Given the description of an element on the screen output the (x, y) to click on. 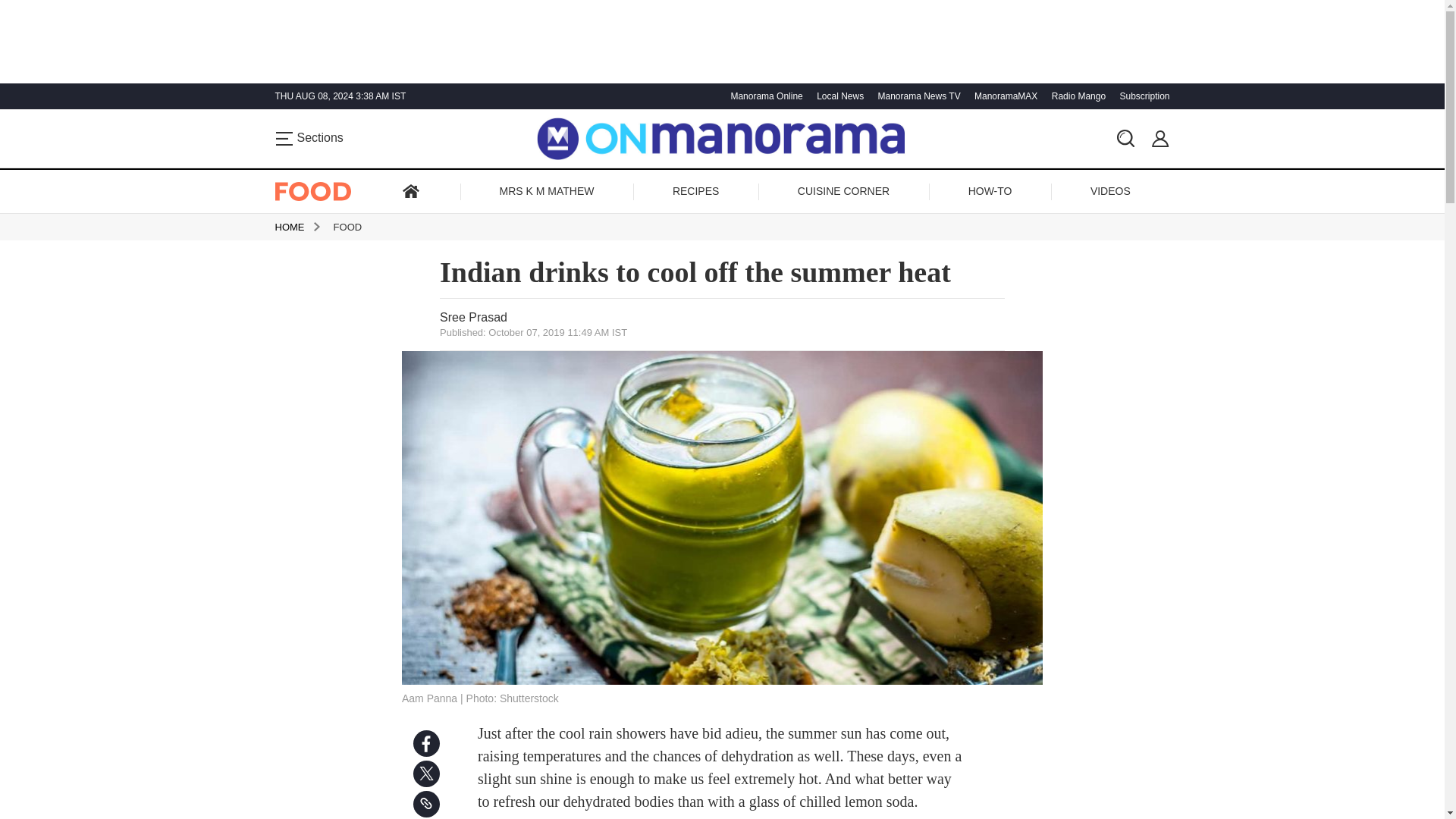
CUISINE CORNER (843, 191)
Local News (837, 95)
RECIPES (695, 191)
Manorama News TV (916, 95)
MRS K M MATHEW (547, 191)
Subscription (1142, 95)
Radio Mango (1076, 95)
HOW-TO (990, 191)
Manorama Online (764, 95)
ManoramaMAX (1003, 95)
